Given the description of an element on the screen output the (x, y) to click on. 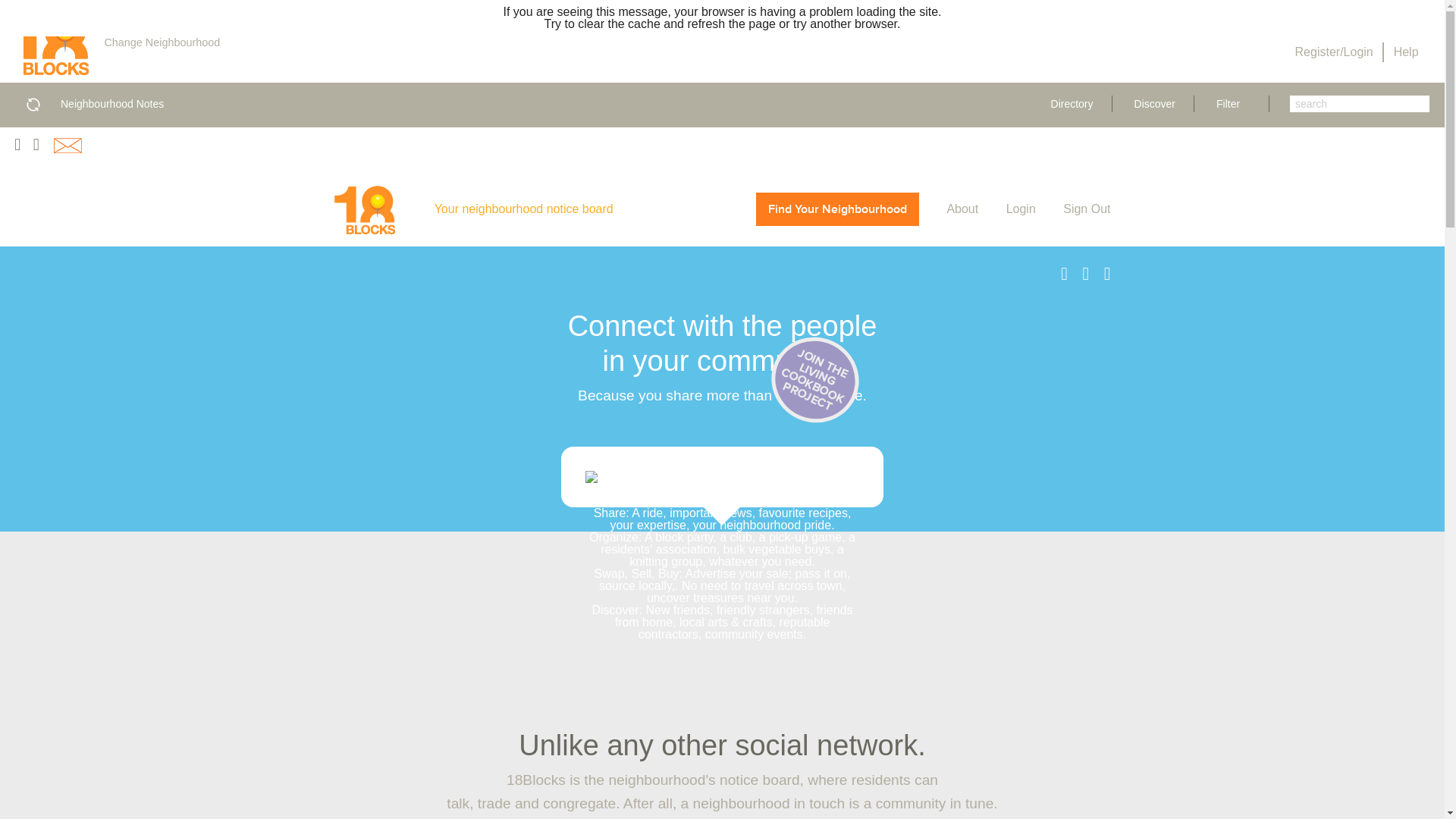
Directory Element type: text (1072, 103)
Sign Out Element type: text (1086, 208)
Login Element type: text (1022, 208)
Discover Element type: text (1154, 103)
Find Your Neighbourhood Element type: text (837, 208)
About Element type: text (963, 208)
Neighbourhood Notes Element type: text (111, 103)
Filter Element type: text (1233, 103)
Help Element type: text (1411, 51)
Register/Login Element type: text (1334, 51)
Change Neighbourhood Element type: text (166, 42)
